Given the description of an element on the screen output the (x, y) to click on. 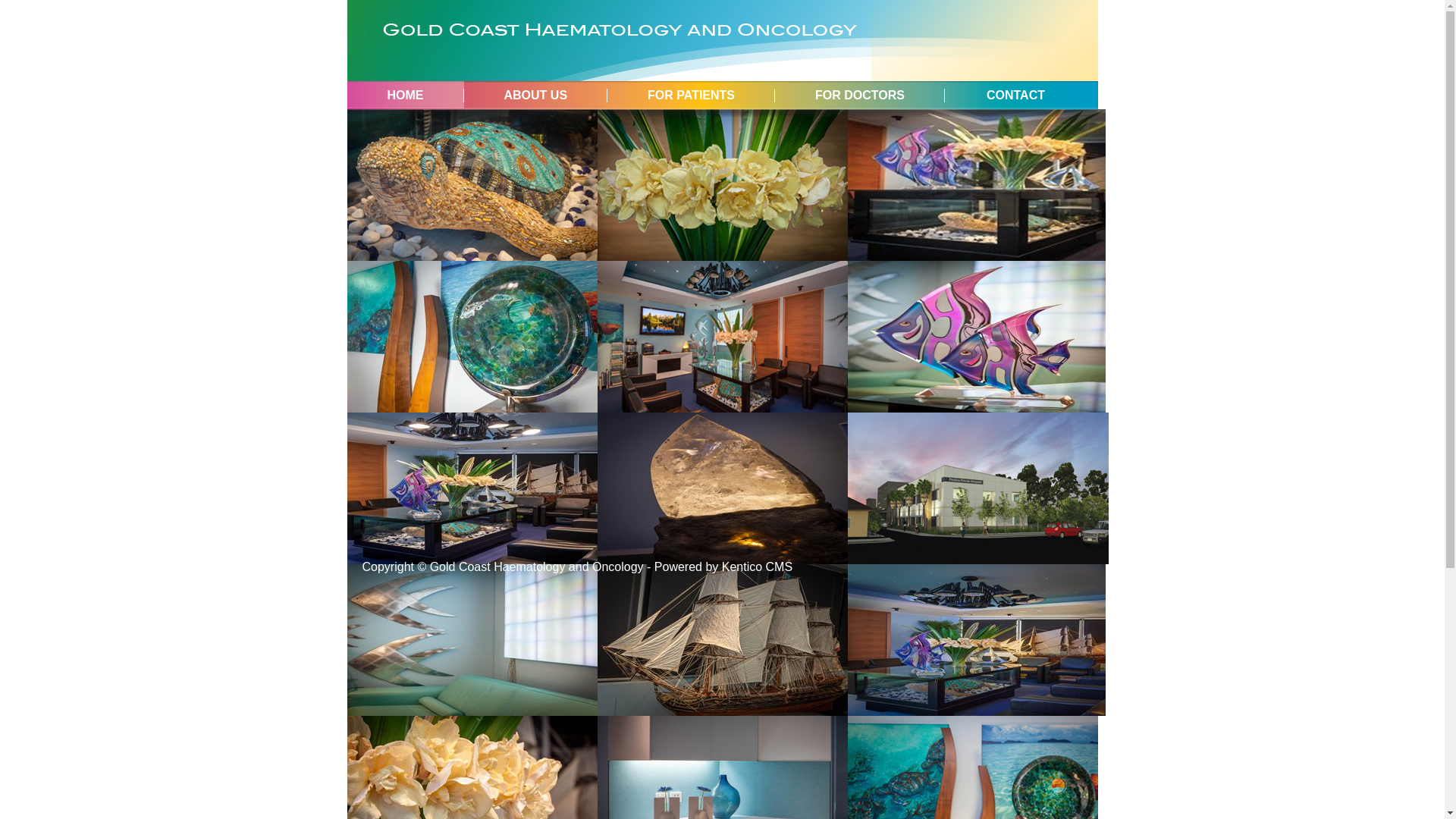
Powered by Kentico CMS Element type: text (723, 566)
FOR DOCTORS Element type: text (859, 94)
ABOUT US Element type: text (536, 94)
FOR PATIENTS Element type: text (691, 94)
HOME Element type: text (405, 94)
CONTACT Element type: text (1016, 94)
GCHO Element type: text (620, 41)
